Given the description of an element on the screen output the (x, y) to click on. 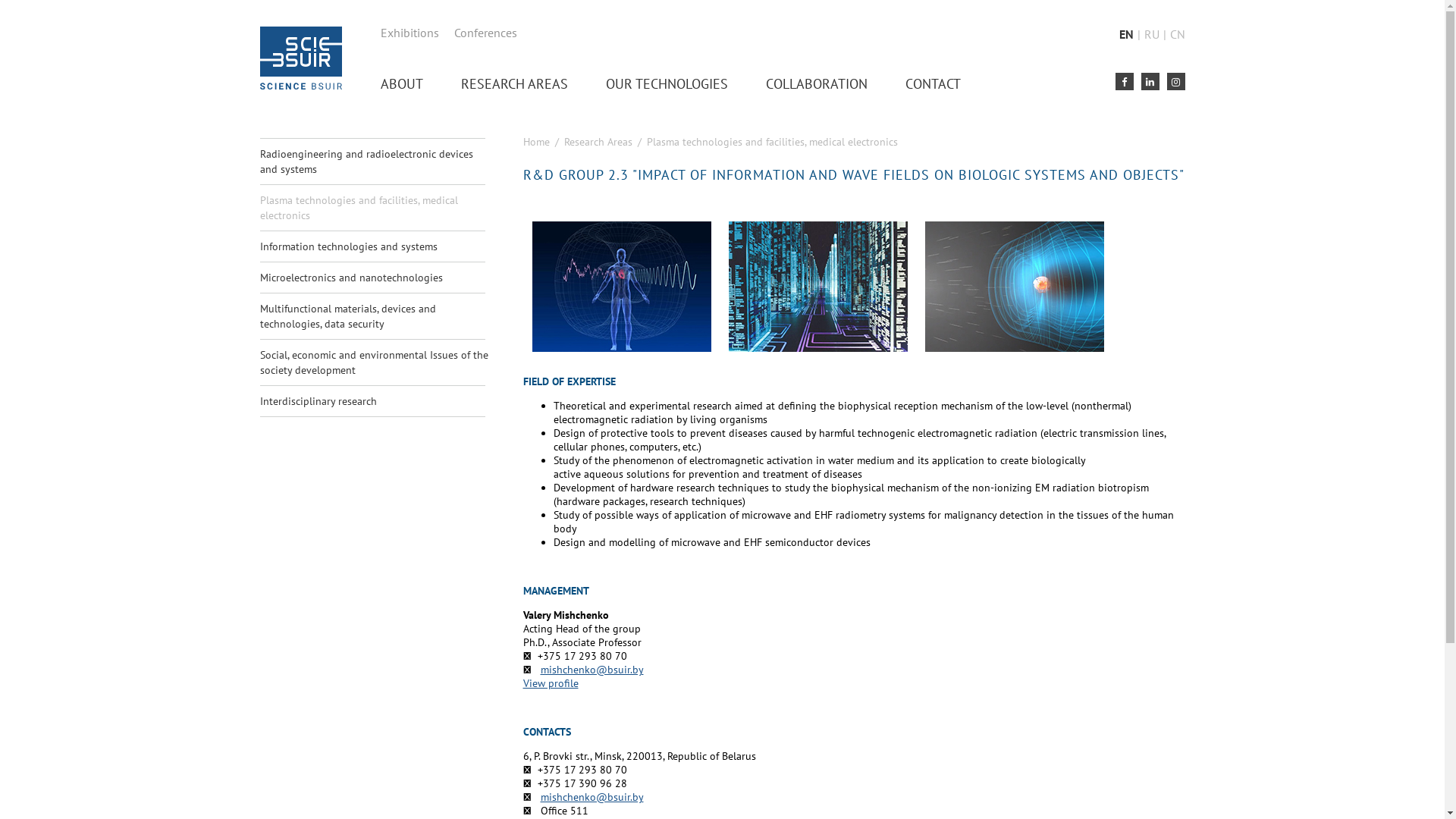
Research Areas Element type: text (598, 141)
OUR TECHNOLOGIES Element type: text (666, 83)
Interdisciplinary research Element type: text (375, 400)
Information technologies and systems Element type: text (375, 246)
  Element type: text (1123, 81)
mishchenko@bsuir.by Element type: text (591, 669)
Home Element type: text (536, 141)
Microelectronics and nanotechnologies Element type: text (375, 277)
CONTACT Element type: text (932, 83)
Plasma technologies and facilities, medical electronics Element type: text (375, 207)
mishchenko@bsuir.by Element type: text (591, 796)
  Element type: text (1175, 81)
RU Element type: text (1150, 33)
View profile Element type: text (550, 683)
Plasma technologies and facilities, medical electronics Element type: text (771, 141)
RESEARCH AREAS Element type: text (514, 83)
Exhibitions Element type: text (409, 32)
CN Element type: text (1176, 33)
ABOUT Element type: text (401, 83)
  Element type: text (1149, 81)
COLLABORATION Element type: text (816, 83)
Conferences Element type: text (484, 32)
Radioengineering and radioelectronic devices and systems Element type: text (375, 161)
